Given the description of an element on the screen output the (x, y) to click on. 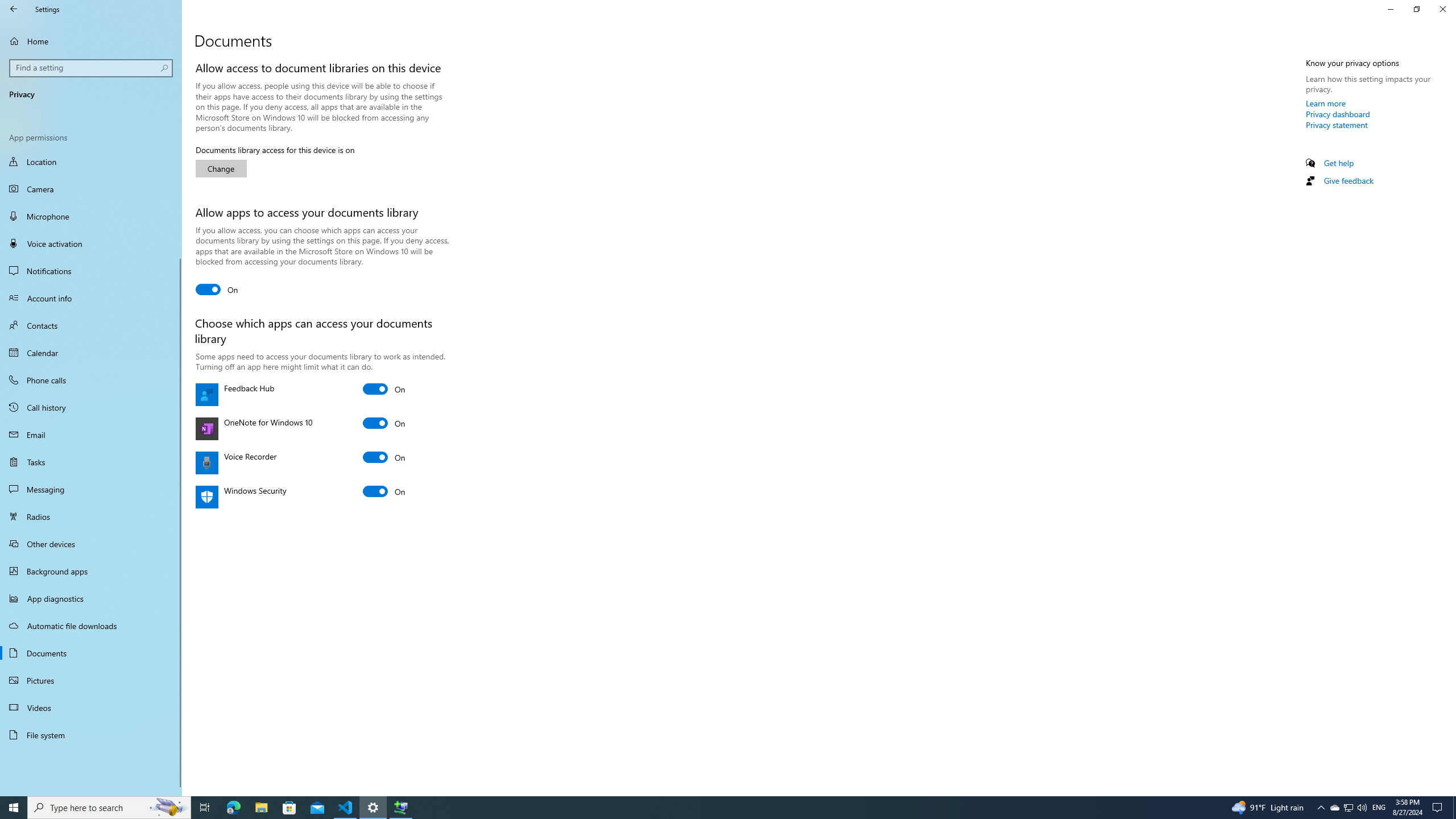
Search box, Find a setting (91, 67)
Back (13, 9)
Account info (91, 298)
Allow apps to access your documents library (216, 289)
Learn more (1326, 102)
App diagnostics (91, 597)
Give feedback (1348, 180)
Action Center, No new notifications (1439, 807)
Other devices (91, 543)
Get help (1338, 162)
Automatic file downloads (91, 625)
Search highlights icon opens search home window (167, 807)
Location (91, 162)
File system (91, 734)
